Given the description of an element on the screen output the (x, y) to click on. 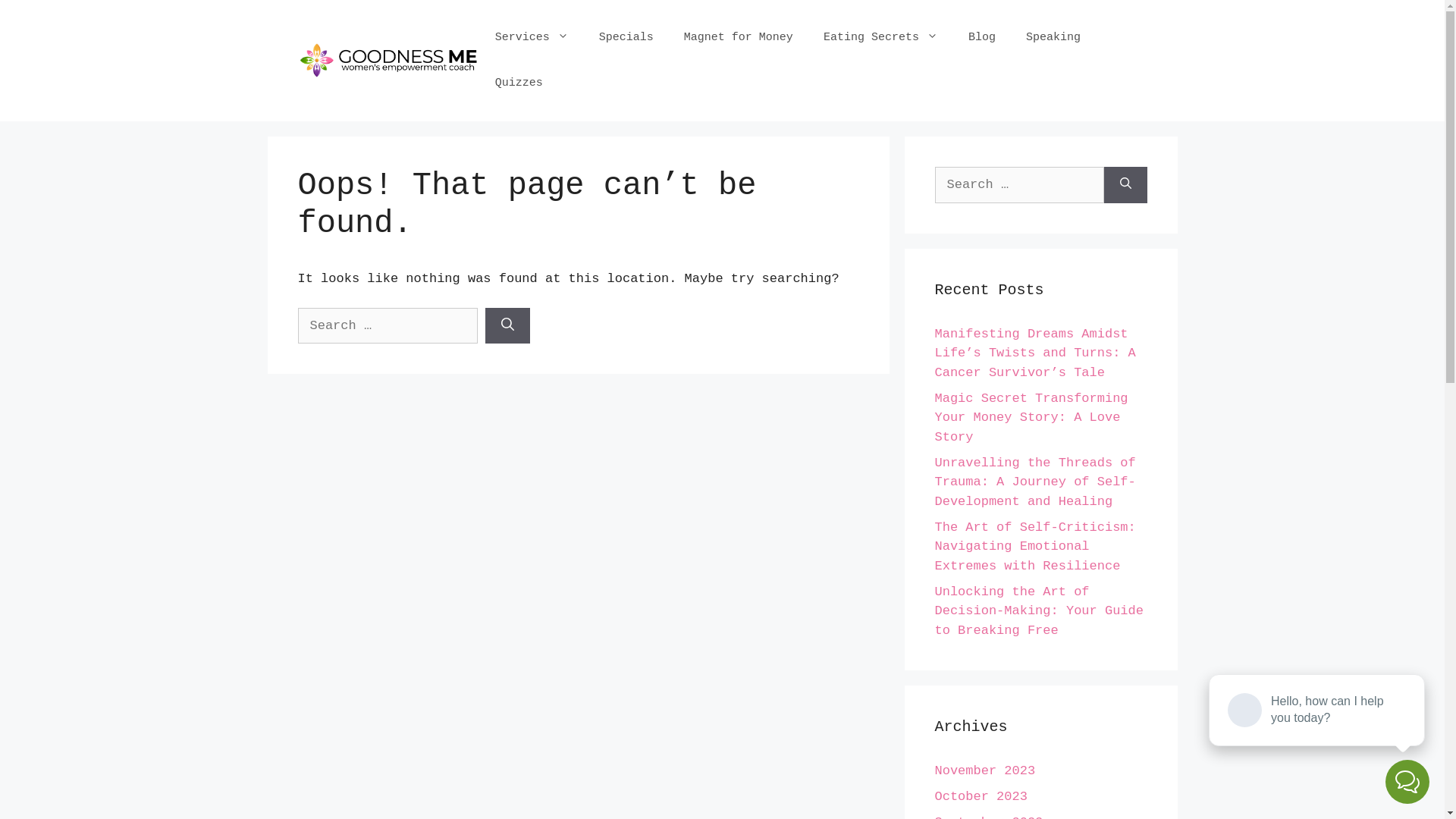
Blog Element type: text (981, 37)
Magic Secret Transforming Your Money Story: A Love Story  Element type: text (1030, 417)
Specials Element type: text (625, 37)
November 2023 Element type: text (984, 770)
Search for: Element type: hover (386, 325)
Search for: Element type: hover (1018, 184)
Magnet for Money Element type: text (738, 37)
Services Element type: text (531, 37)
Eating Secrets Element type: text (880, 37)
October 2023 Element type: text (980, 796)
Quizzes Element type: text (519, 83)
Speaking Element type: text (1052, 37)
